Given the description of an element on the screen output the (x, y) to click on. 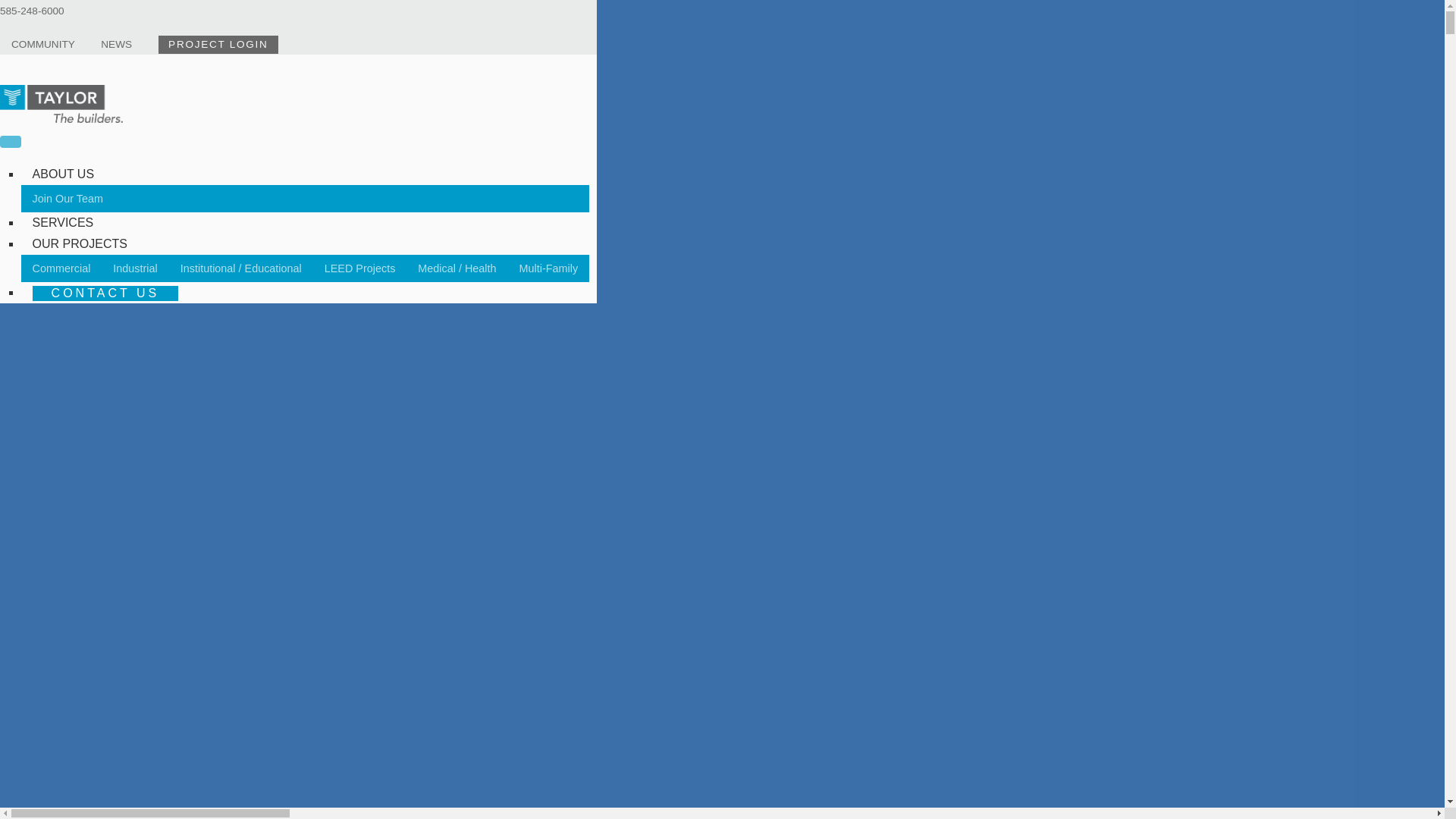
ABOUT US (63, 173)
Multi-Family (548, 268)
Commercial (61, 268)
NEWS (116, 43)
585-248-6000 (32, 10)
COMMERCIAL (71, 197)
Call Us (32, 10)
Join Our Team (68, 198)
CONTACT US (105, 293)
Industrial (134, 268)
COMMUNITY (43, 43)
OUR PROJECTS (80, 243)
LEED Projects (360, 268)
SERVICES (63, 222)
PROJECT LOGIN (218, 45)
